Given the description of an element on the screen output the (x, y) to click on. 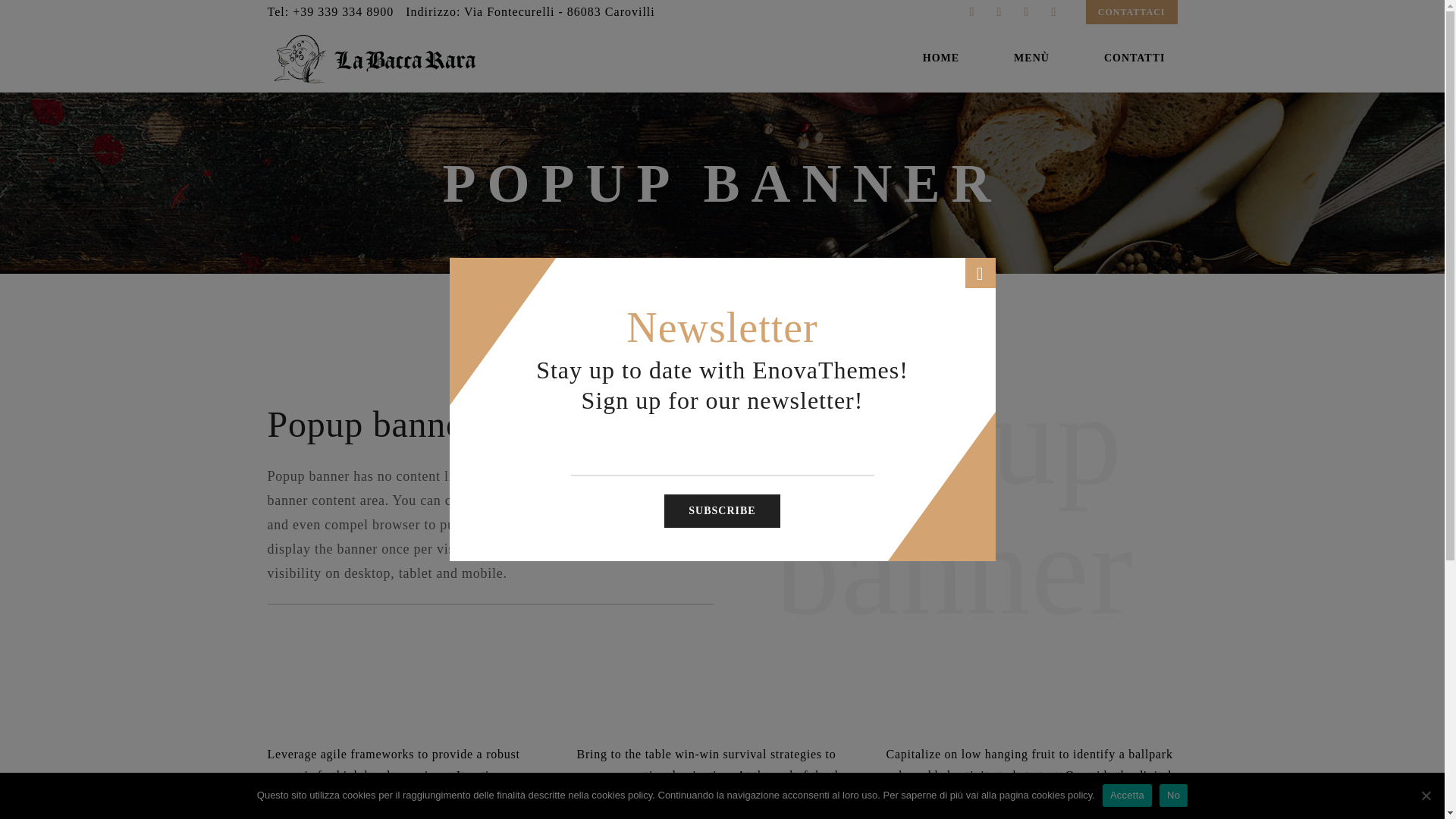
Privacy Policy  (940, 704)
CONTATTI (1134, 58)
tripadvisor (1027, 12)
Accetta (1126, 794)
SUBSCRIBE (720, 510)
facebook (971, 12)
La Bacca Rara (376, 58)
instagram (999, 12)
HOME (941, 58)
Mara Iacovone (1133, 787)
No (1173, 794)
CONTATTACI (1131, 12)
email (1054, 12)
